Given the description of an element on the screen output the (x, y) to click on. 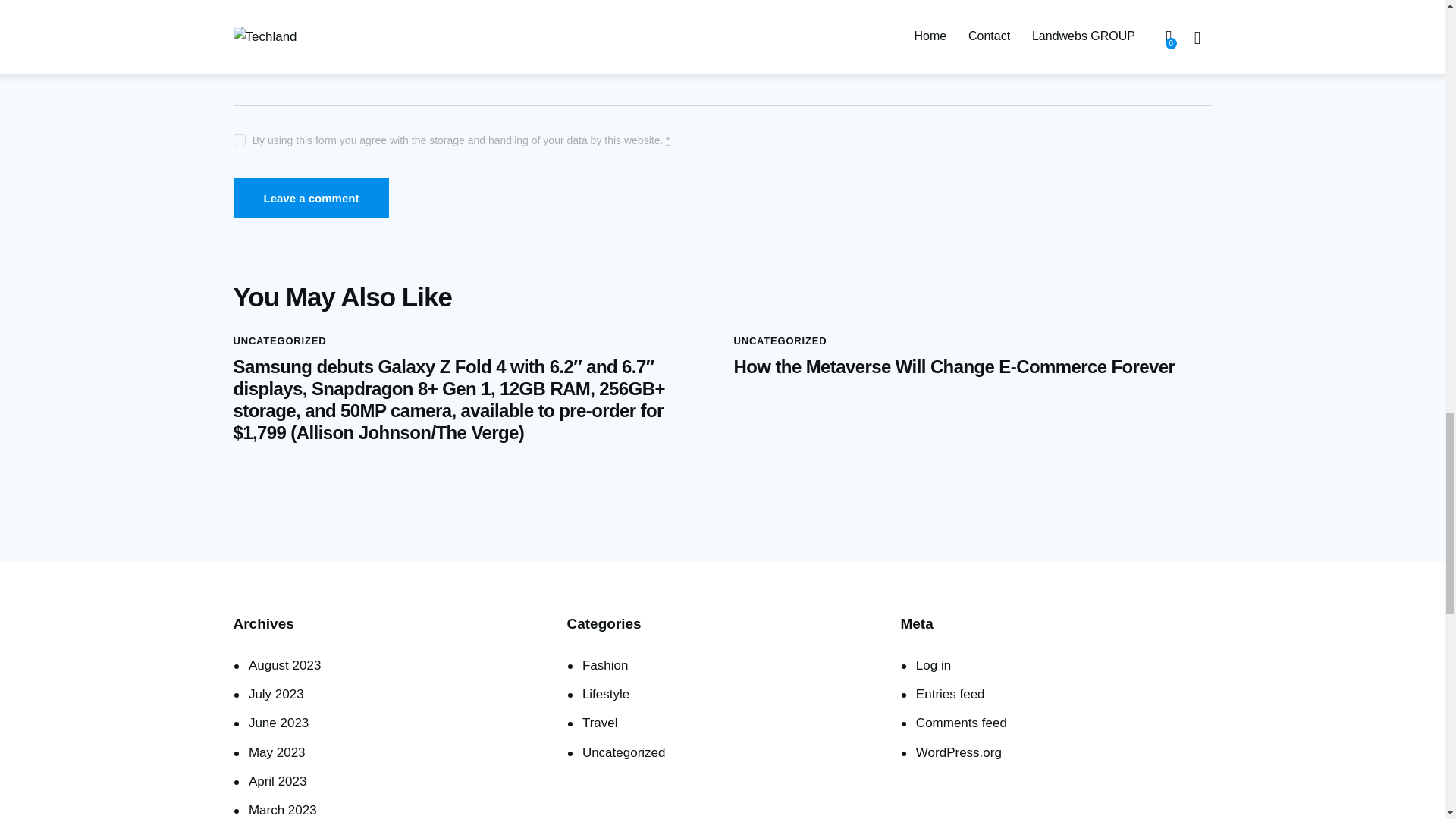
How the Metaverse Will Change E-Commerce Forever (972, 367)
Leave a comment (311, 198)
Leave a comment (311, 198)
UNCATEGORIZED (780, 340)
UNCATEGORIZED (279, 340)
1 (237, 136)
